Given the description of an element on the screen output the (x, y) to click on. 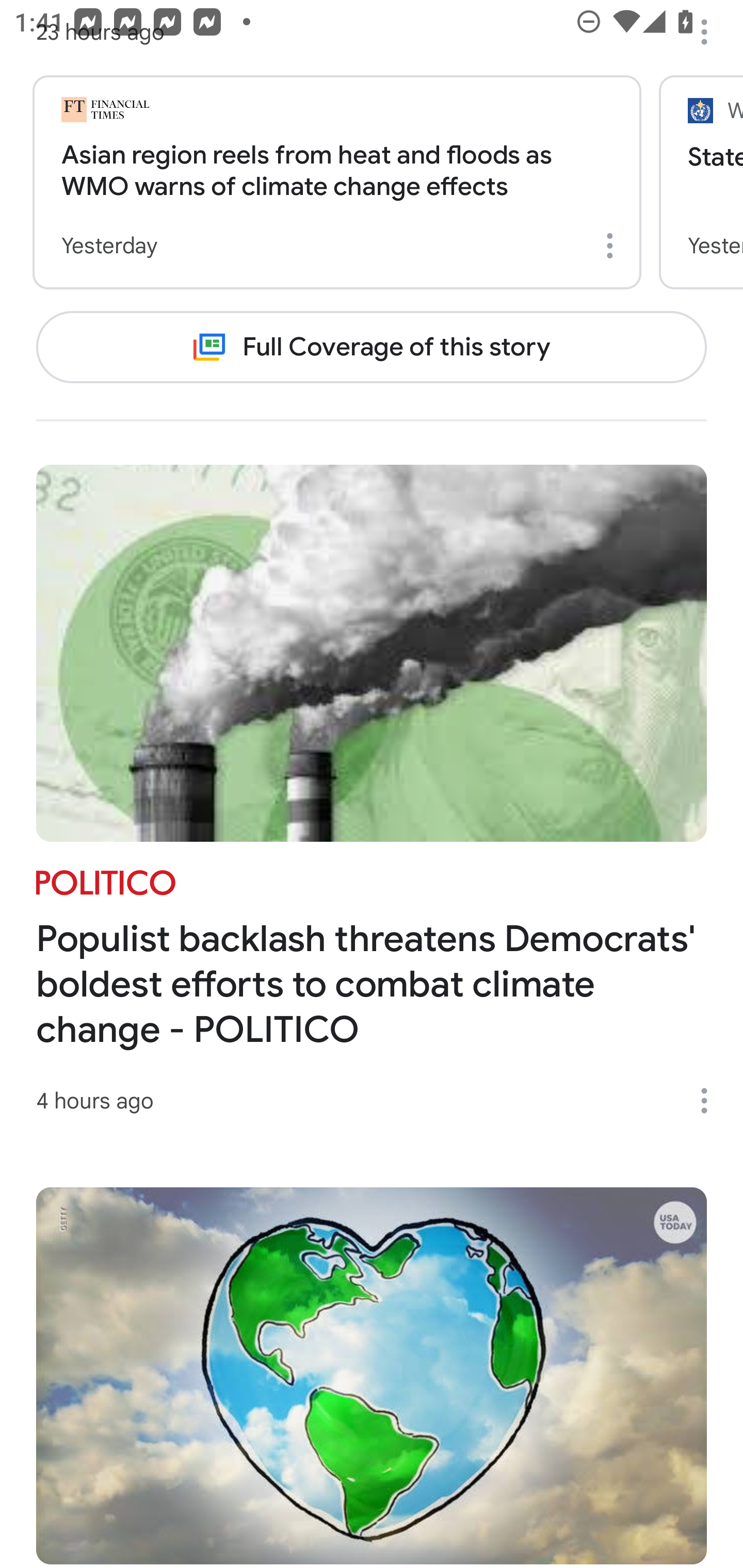
More options (711, 32)
More options (613, 244)
Full Coverage of this story (371, 346)
More options (711, 1100)
